Given the description of an element on the screen output the (x, y) to click on. 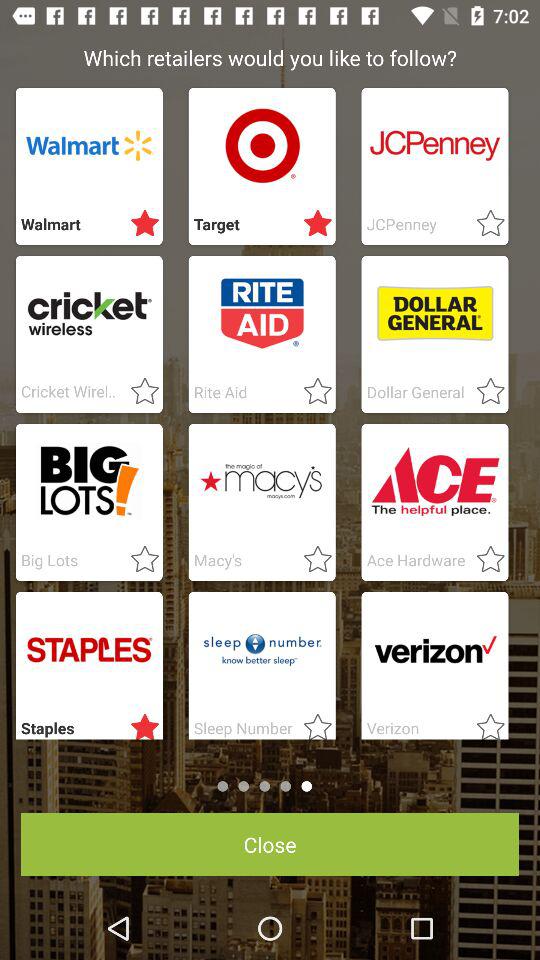
star rating (139, 723)
